Given the description of an element on the screen output the (x, y) to click on. 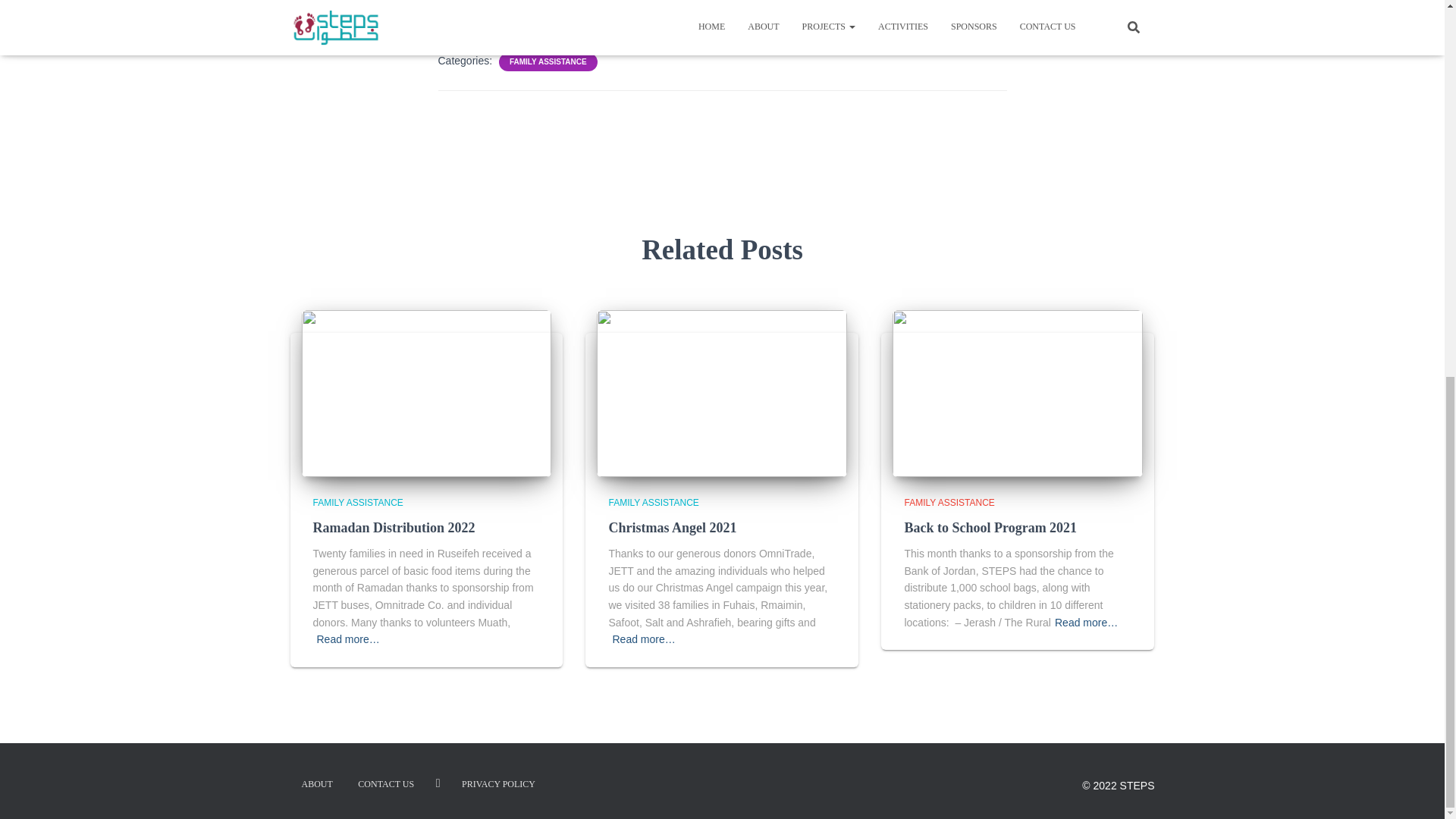
CONTACT US (385, 784)
View all posts in Family Assistance (358, 502)
Back to School Program 2021 (990, 527)
Ramadan Distribution 2022 (426, 392)
FAMILY ASSISTANCE (548, 61)
FAMILY ASSISTANCE (358, 502)
PRIVACY POLICY (498, 784)
ABOUT (316, 784)
FAMILY ASSISTANCE (653, 502)
Ramadan Distribution 2022 (393, 527)
FAMILY ASSISTANCE (949, 502)
Christmas Angel 2021 (672, 527)
